Given the description of an element on the screen output the (x, y) to click on. 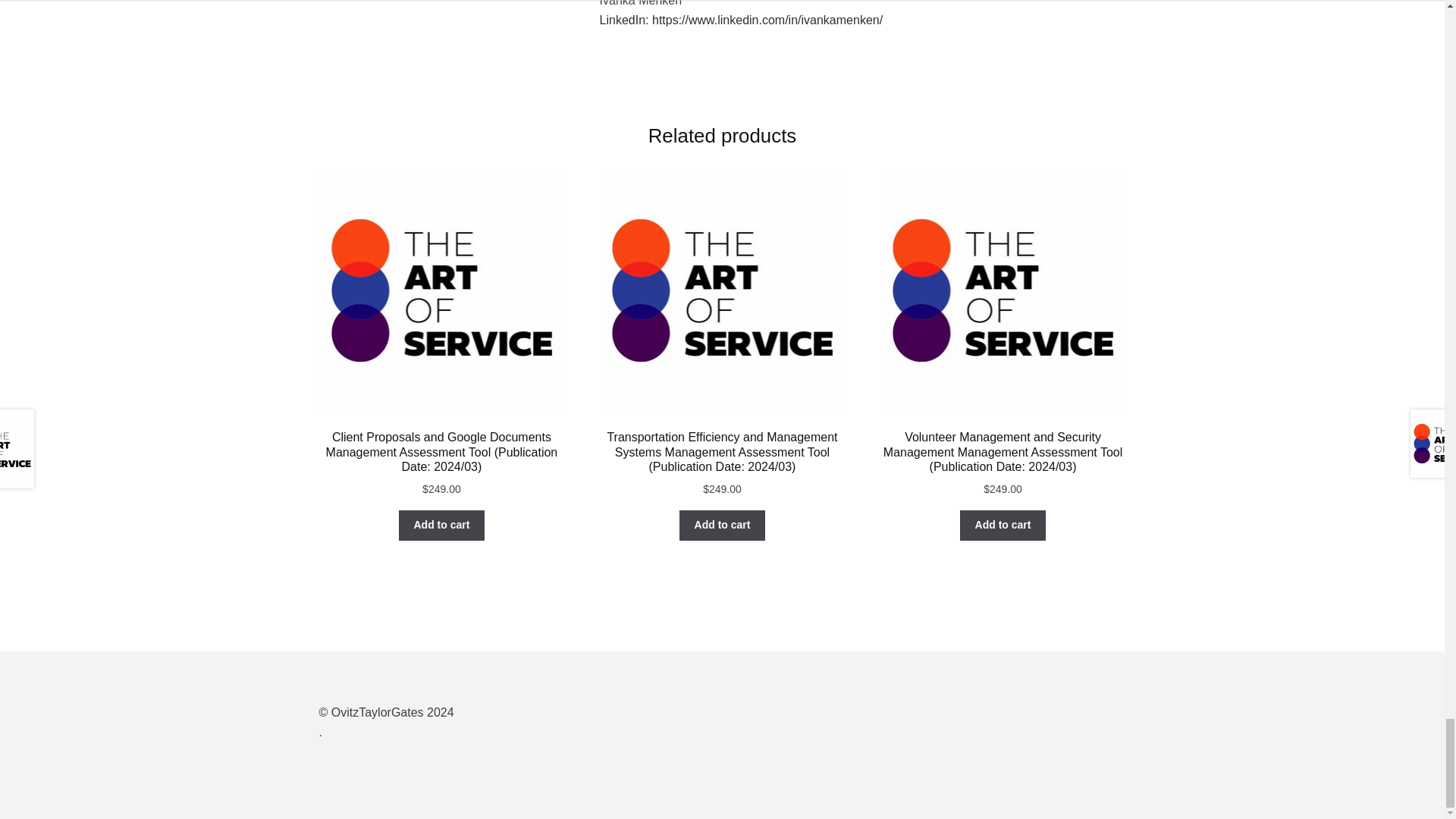
Add to cart (1002, 525)
Add to cart (722, 525)
Add to cart (441, 525)
